Given the description of an element on the screen output the (x, y) to click on. 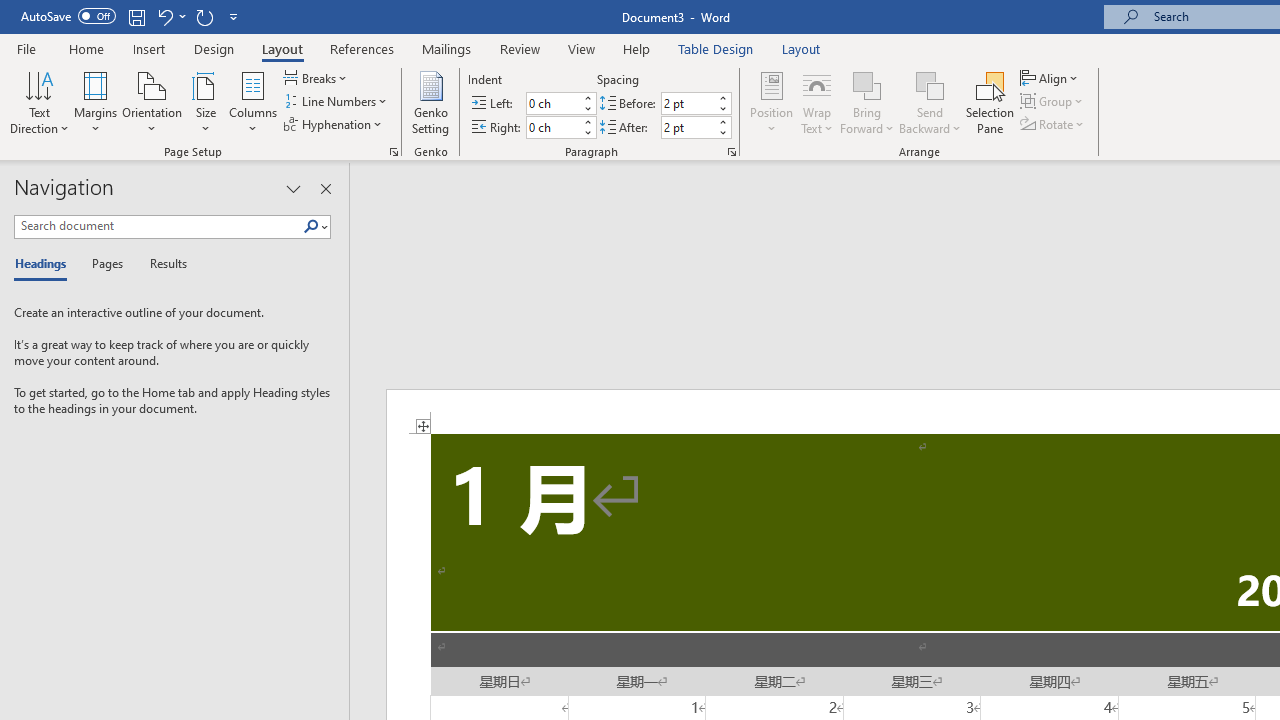
Selection Pane... (990, 102)
Breaks (317, 78)
Genko Setting... (430, 102)
Group (1053, 101)
Spacing Before (687, 103)
Columns (253, 102)
Wrap Text (817, 102)
